Given the description of an element on the screen output the (x, y) to click on. 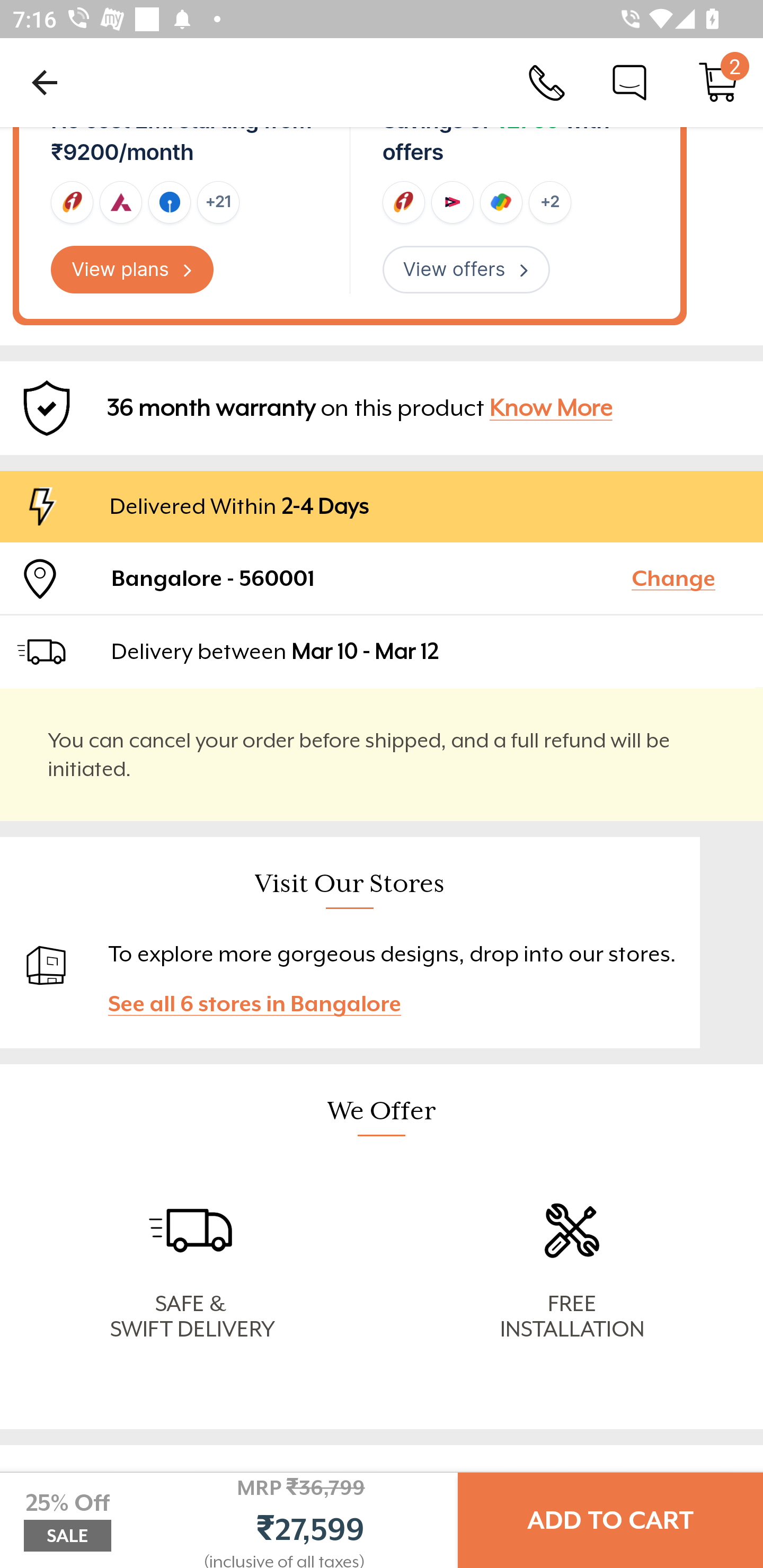
Navigate up (44, 82)
Call Us (546, 81)
Chat (629, 81)
Cart (718, 81)
View plans (132, 269)
View offers (465, 269)
36 month warranty on this product Know More (381, 407)
 Bangalore - 560001 Change (381, 578)
Delivery between Mar 10 - Mar 12 (428, 651)
See all 6 stores in Bangalore (262, 1003)
ADD TO CART (610, 1520)
